Given the description of an element on the screen output the (x, y) to click on. 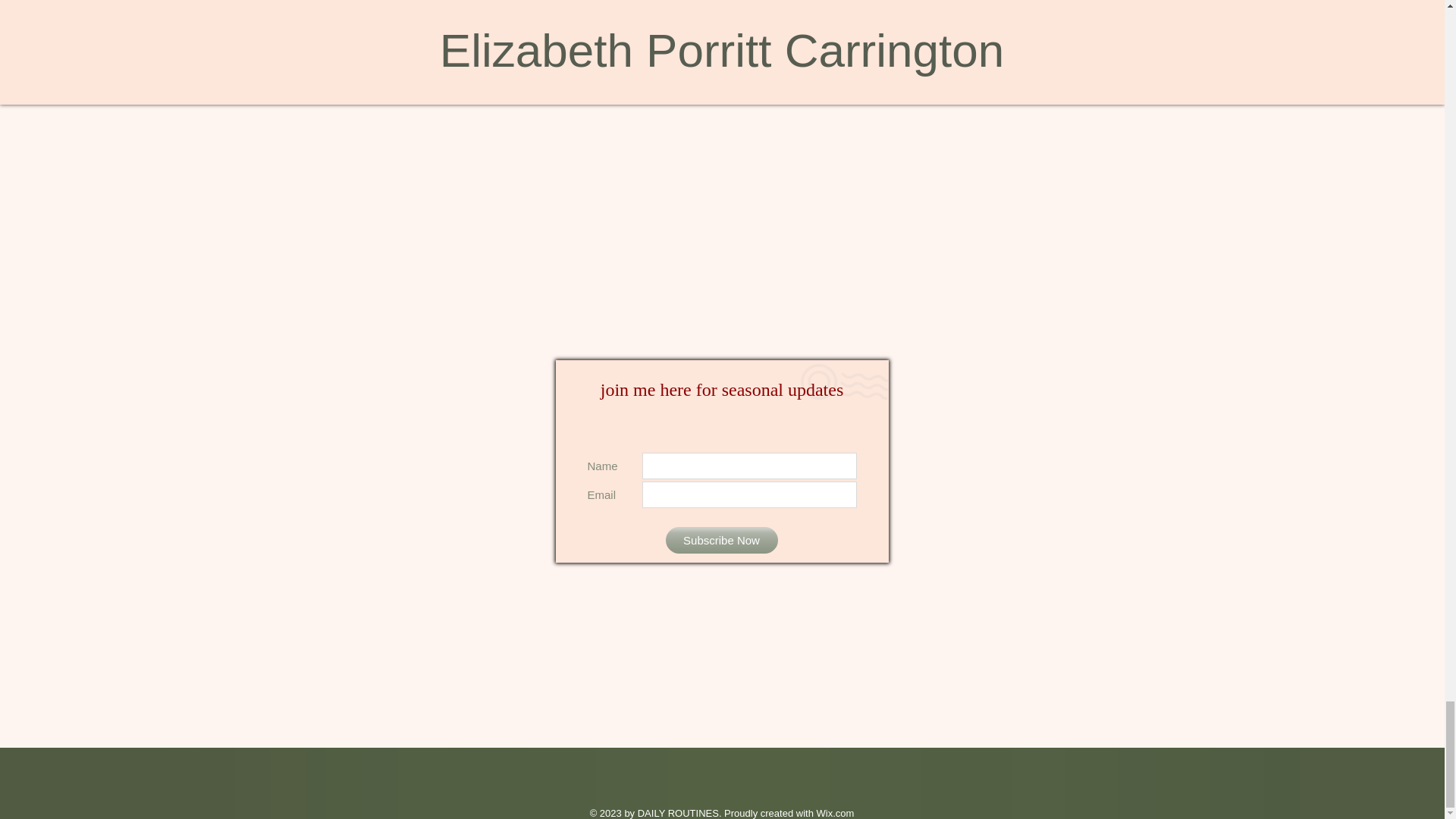
Subscribe Now (721, 540)
